Given the description of an element on the screen output the (x, y) to click on. 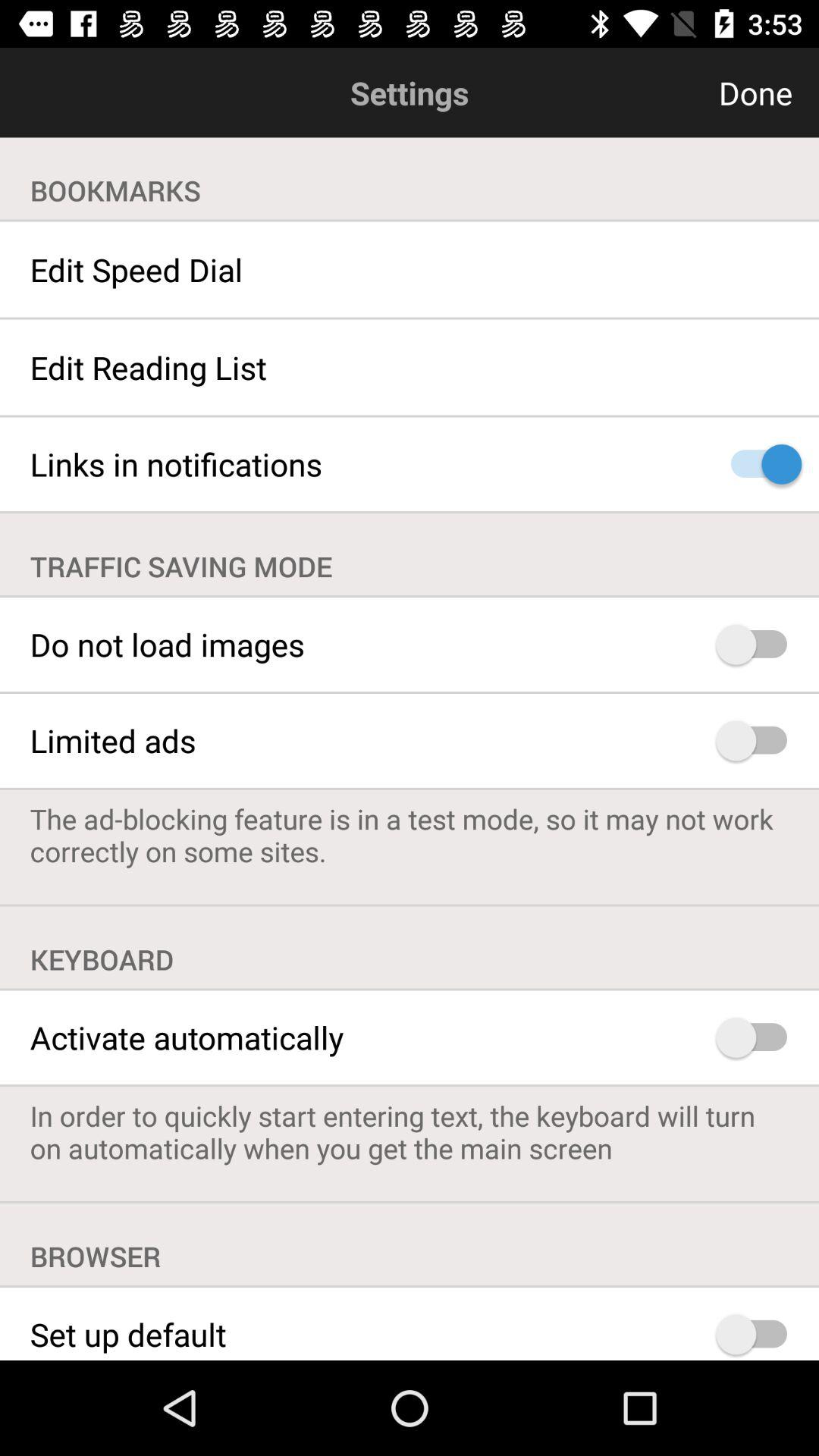
limited advertisements (758, 740)
